Given the description of an element on the screen output the (x, y) to click on. 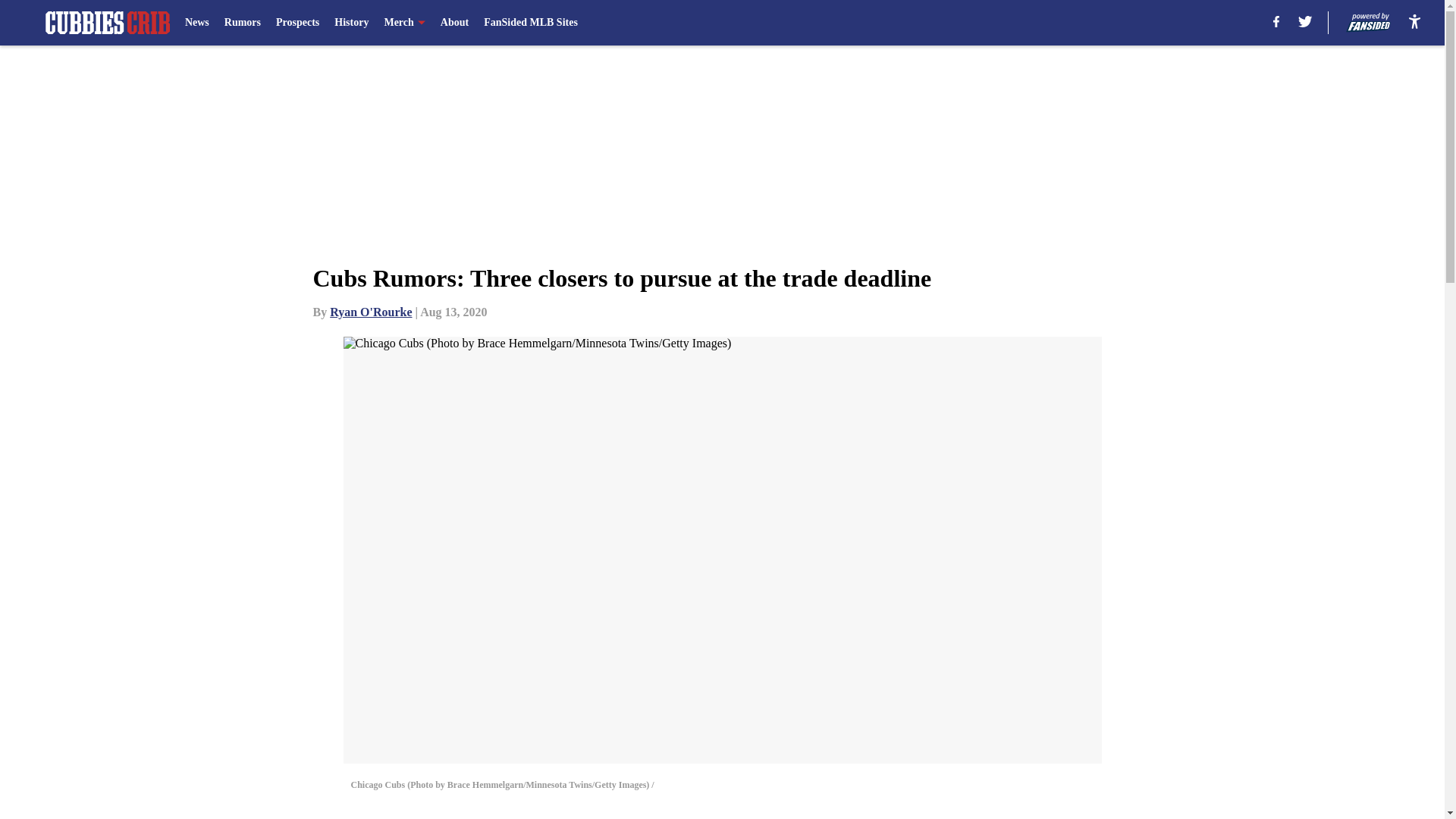
History (351, 22)
News (196, 22)
Prospects (297, 22)
Ryan O'Rourke (371, 311)
Rumors (242, 22)
FanSided MLB Sites (530, 22)
About (454, 22)
